Given the description of an element on the screen output the (x, y) to click on. 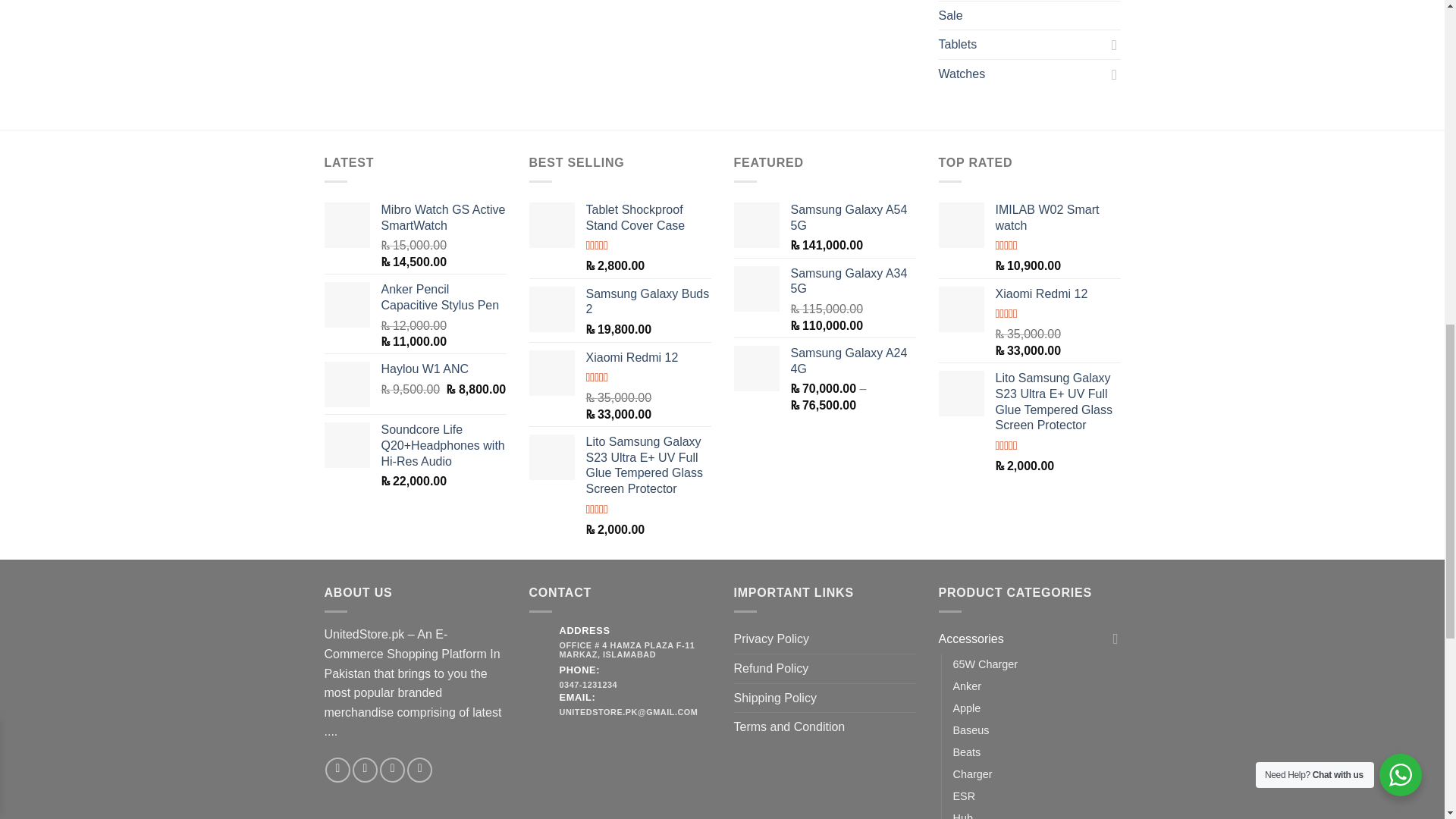
Follow on Instagram (364, 769)
Follow on Facebook (337, 769)
Send us an email (392, 769)
Call us (419, 769)
